Given the description of an element on the screen output the (x, y) to click on. 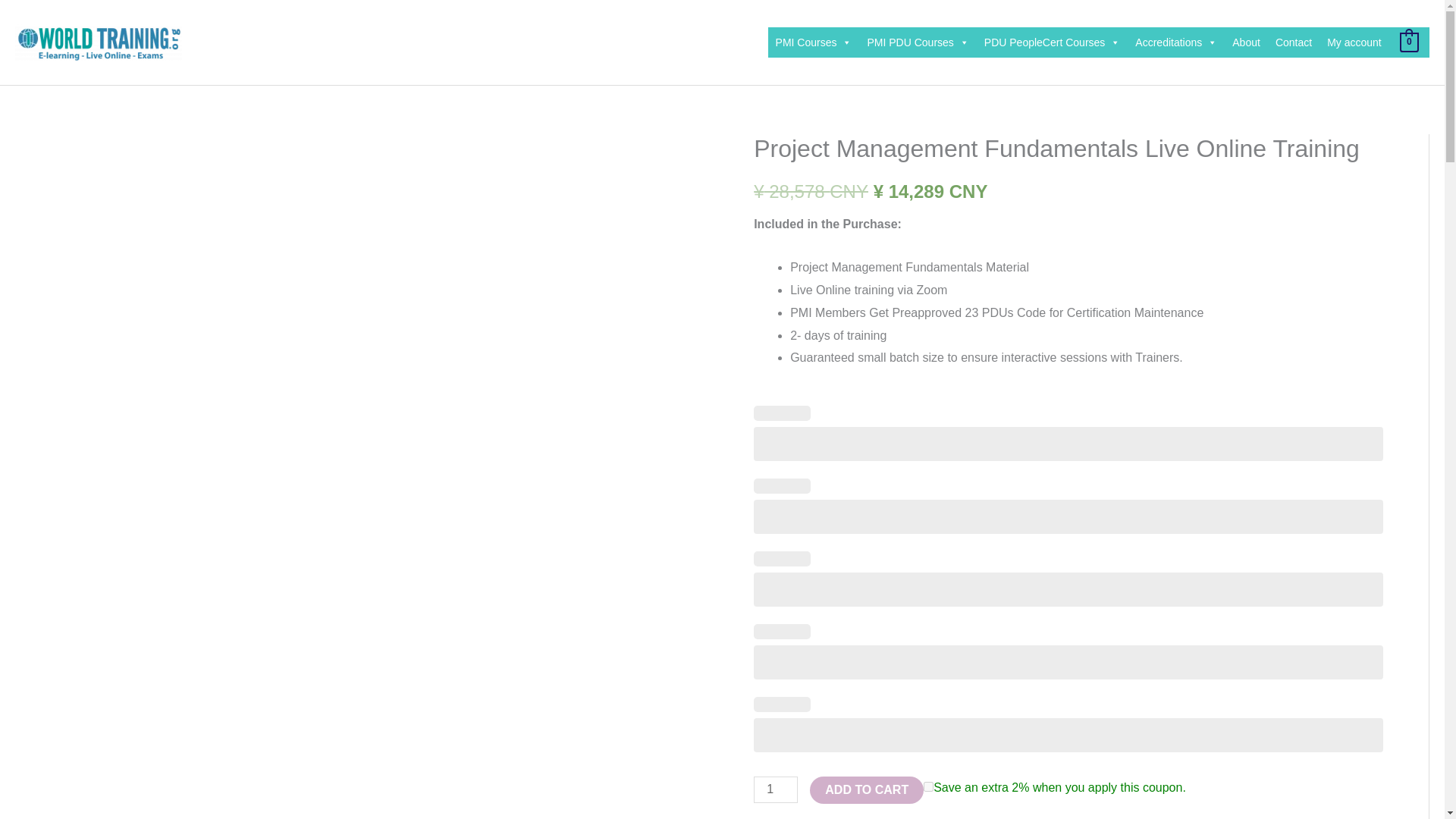
PMI Courses (814, 42)
PMI PDU Courses (917, 42)
PDU PeopleCert Courses (1052, 42)
1 (928, 786)
1 (775, 789)
